Given the description of an element on the screen output the (x, y) to click on. 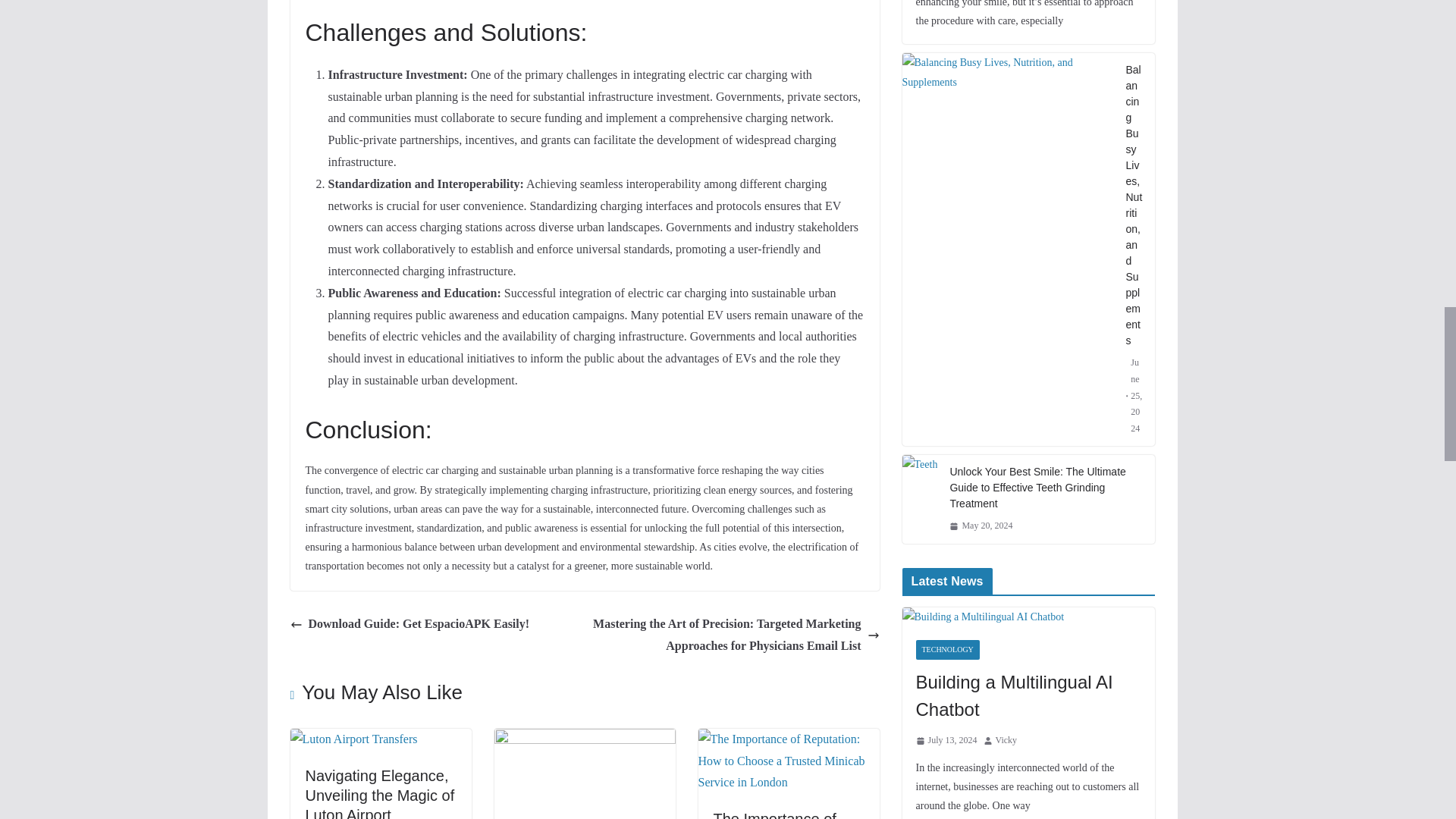
Download Guide: Get EspacioAPK Easily! (409, 624)
6 Things To Do On a Trip To Perthshire (585, 738)
